Given the description of an element on the screen output the (x, y) to click on. 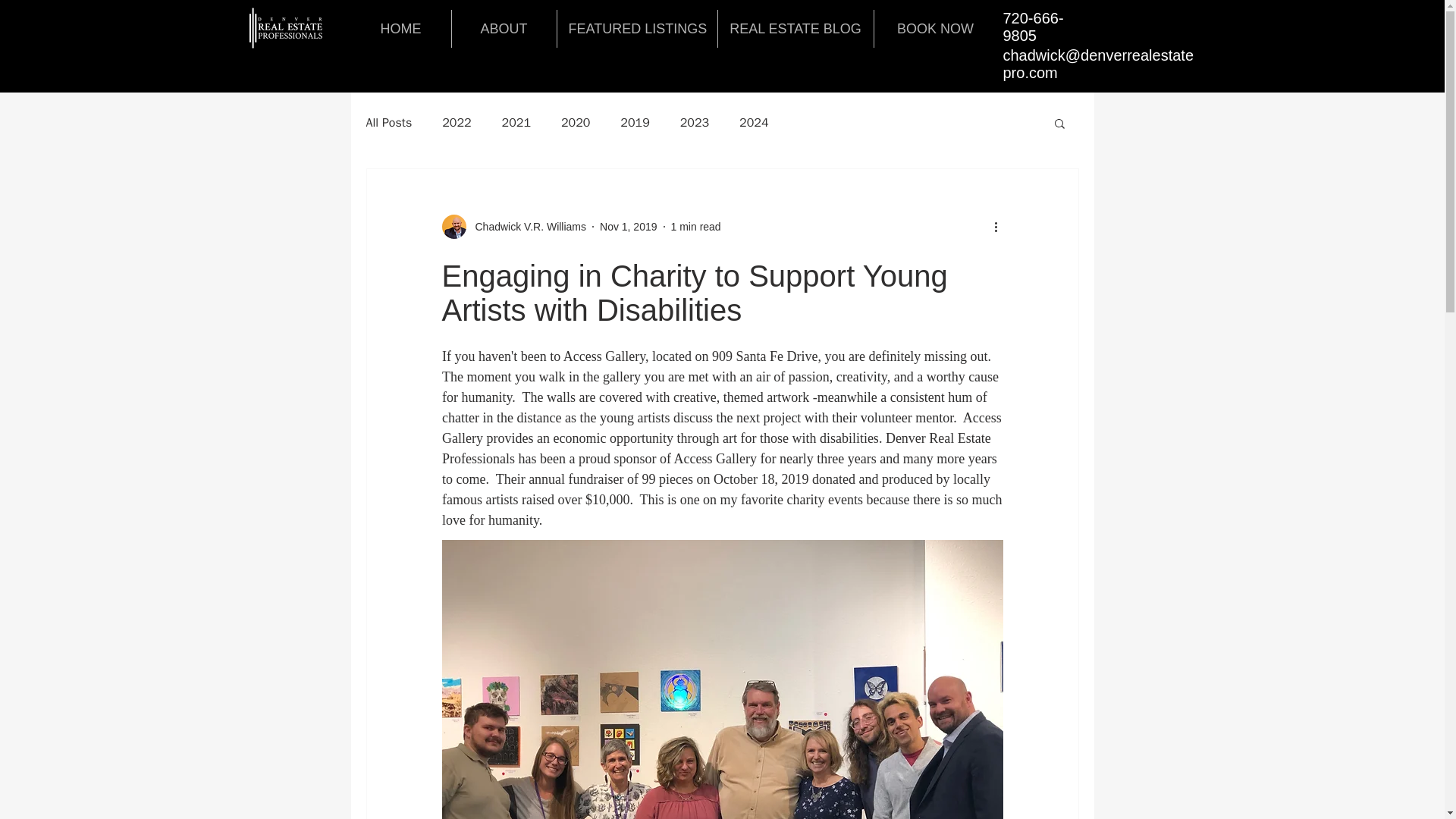
Chadwick V.R. Williams (525, 226)
2024 (753, 123)
2020 (574, 123)
1 min read (695, 225)
Chadwick V.R. Williams (513, 226)
HOME (399, 28)
REAL ESTATE BLOG (794, 28)
2021 (516, 123)
720-666-9805  (1032, 26)
FEATURED LISTINGS (636, 28)
All Posts (388, 123)
2022 (456, 123)
2023 (694, 123)
ABOUT (503, 28)
BOOK NOW (934, 28)
